Given the description of an element on the screen output the (x, y) to click on. 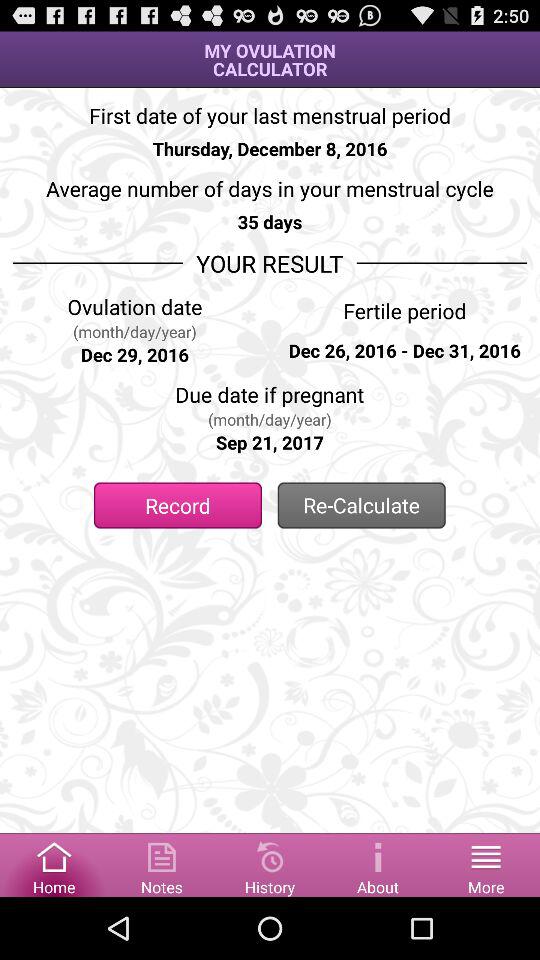
go to history (270, 864)
